Given the description of an element on the screen output the (x, y) to click on. 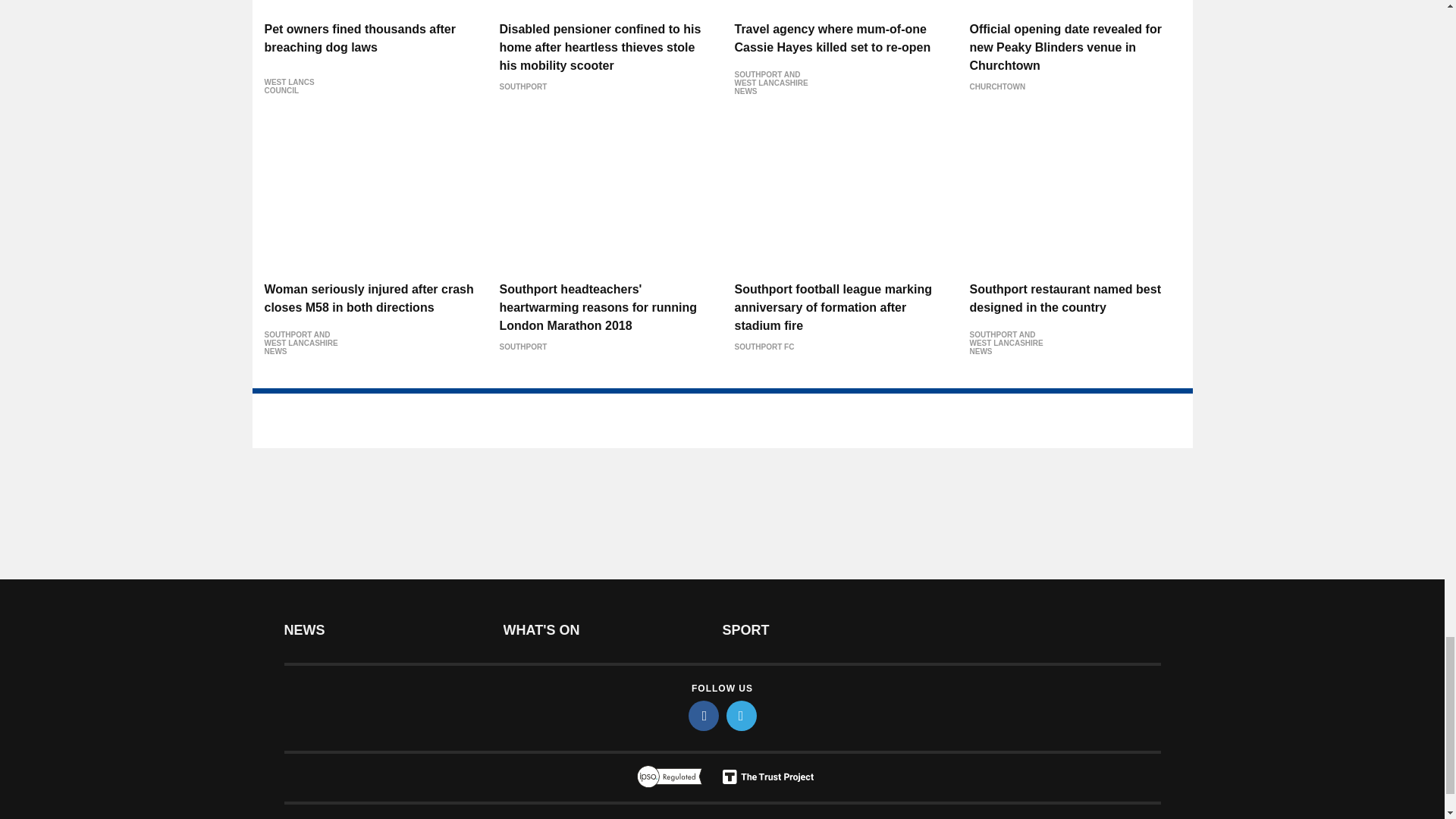
facebook (703, 716)
twitter (741, 716)
